Given the description of an element on the screen output the (x, y) to click on. 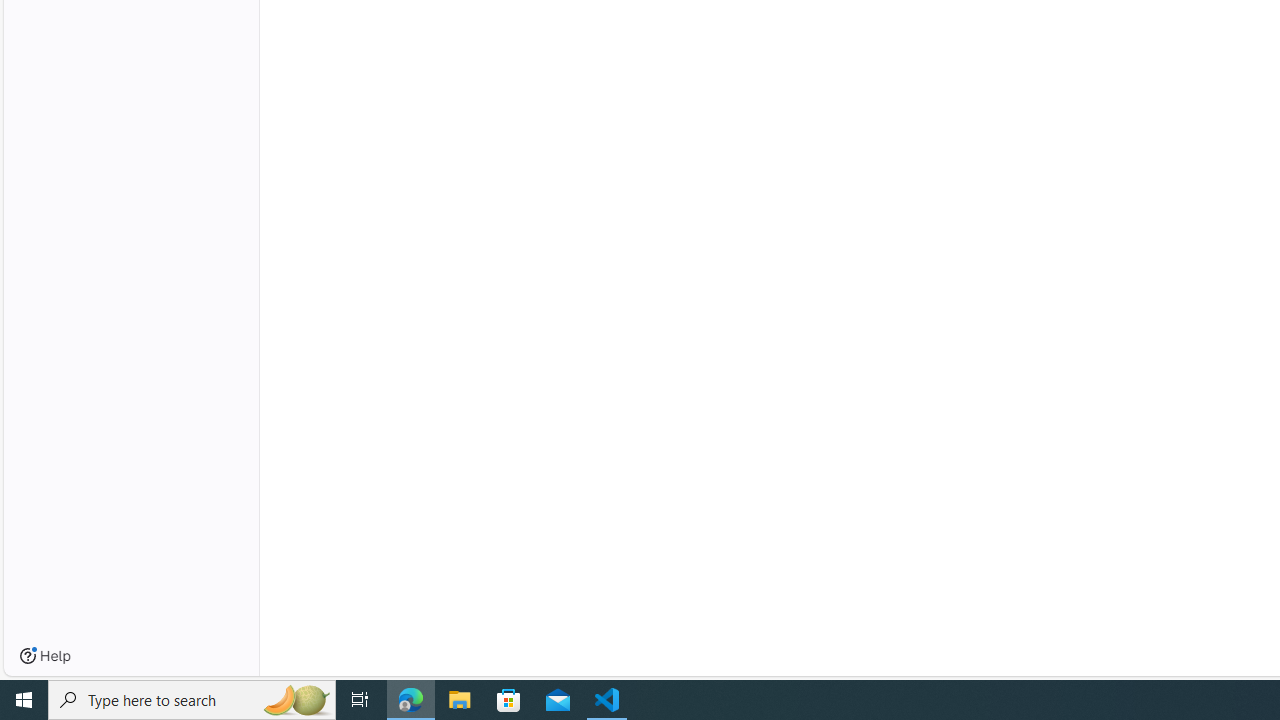
Help (45, 655)
